Given the description of an element on the screen output the (x, y) to click on. 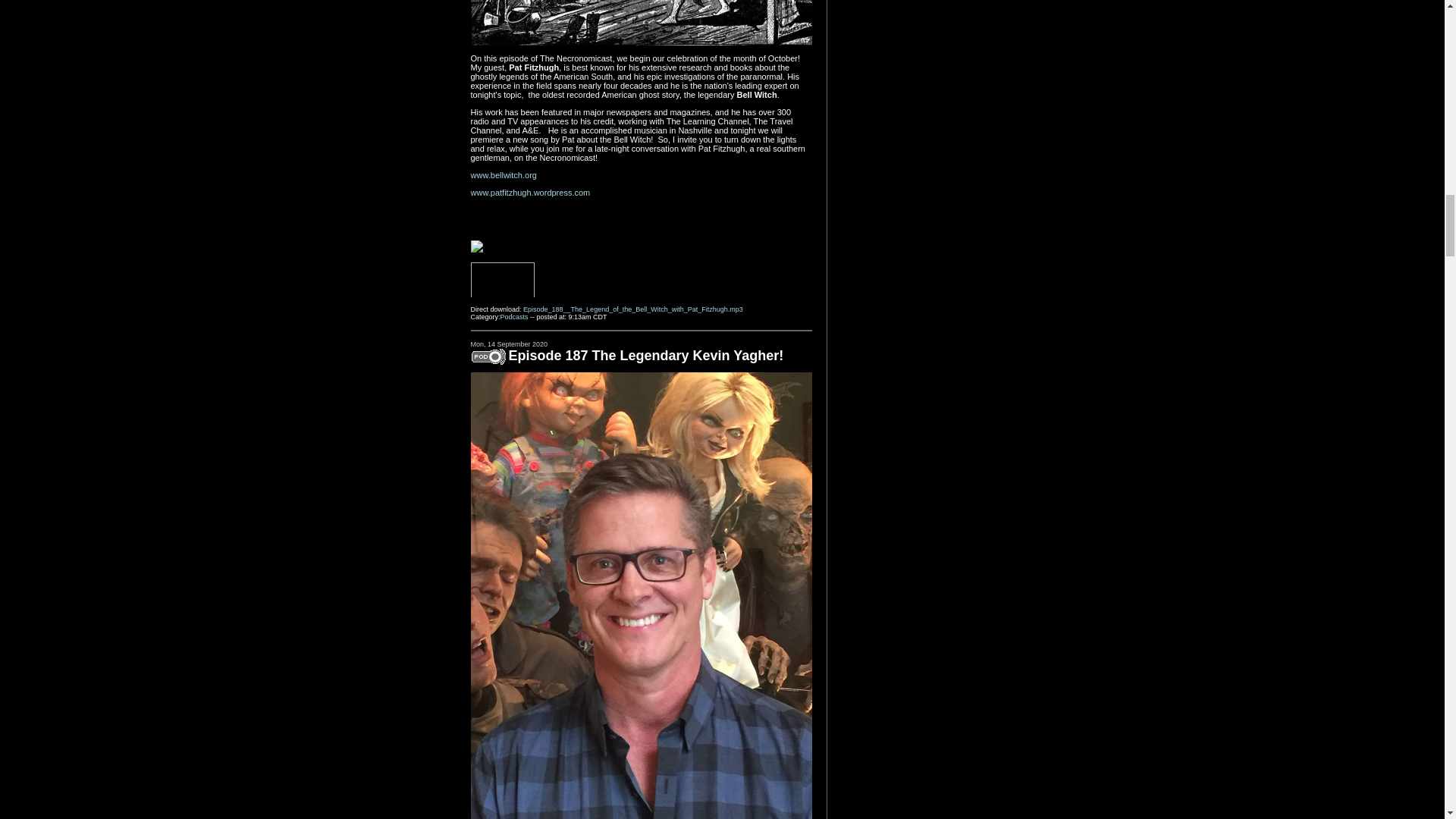
www.patfitzhugh.wordpress.com (529, 192)
www.bellwitch.org (502, 174)
Episode 187 The Legendary Kevin Yagher! (645, 355)
Podcasts (514, 316)
